Given the description of an element on the screen output the (x, y) to click on. 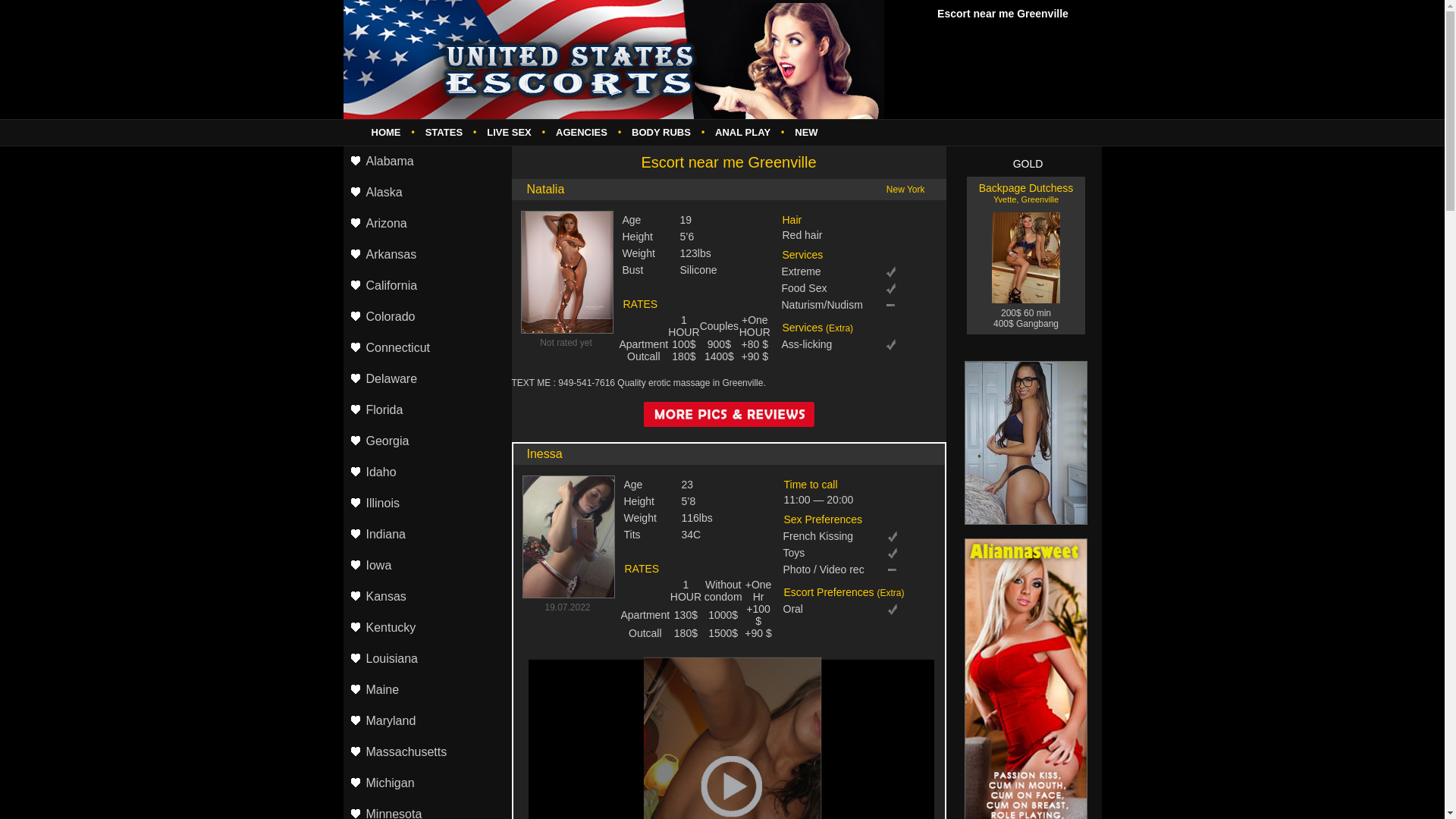
AGENCIES Element type: text (581, 132)
Georgia Element type: text (425, 441)
Arkansas Element type: text (425, 254)
Indiana Element type: text (425, 534)
Louisiana Element type: text (425, 658)
Maine Element type: text (425, 690)
LIVE SEX Element type: text (509, 132)
BODY RUBS Element type: text (661, 132)
Florida Element type: text (425, 410)
Alaska Element type: text (425, 192)
Idaho Element type: text (425, 472)
Colorado Element type: text (425, 316)
Massachusetts Element type: text (425, 752)
Alabama Element type: text (425, 161)
Illinois Element type: text (425, 503)
Kansas Element type: text (425, 596)
STATES Element type: text (443, 132)
Michigan Element type: text (425, 783)
Arizona Element type: text (425, 223)
Iowa Element type: text (425, 565)
ANAL PLAY Element type: text (742, 132)
Connecticut Element type: text (425, 348)
California Element type: text (425, 285)
Kentucky Element type: text (425, 627)
Escort near me Greenville Element type: hover (612, 59)
Delaware Element type: text (425, 379)
Maryland Element type: text (425, 721)
HOME Element type: text (386, 132)
NEW Element type: text (806, 132)
